Given the description of an element on the screen output the (x, y) to click on. 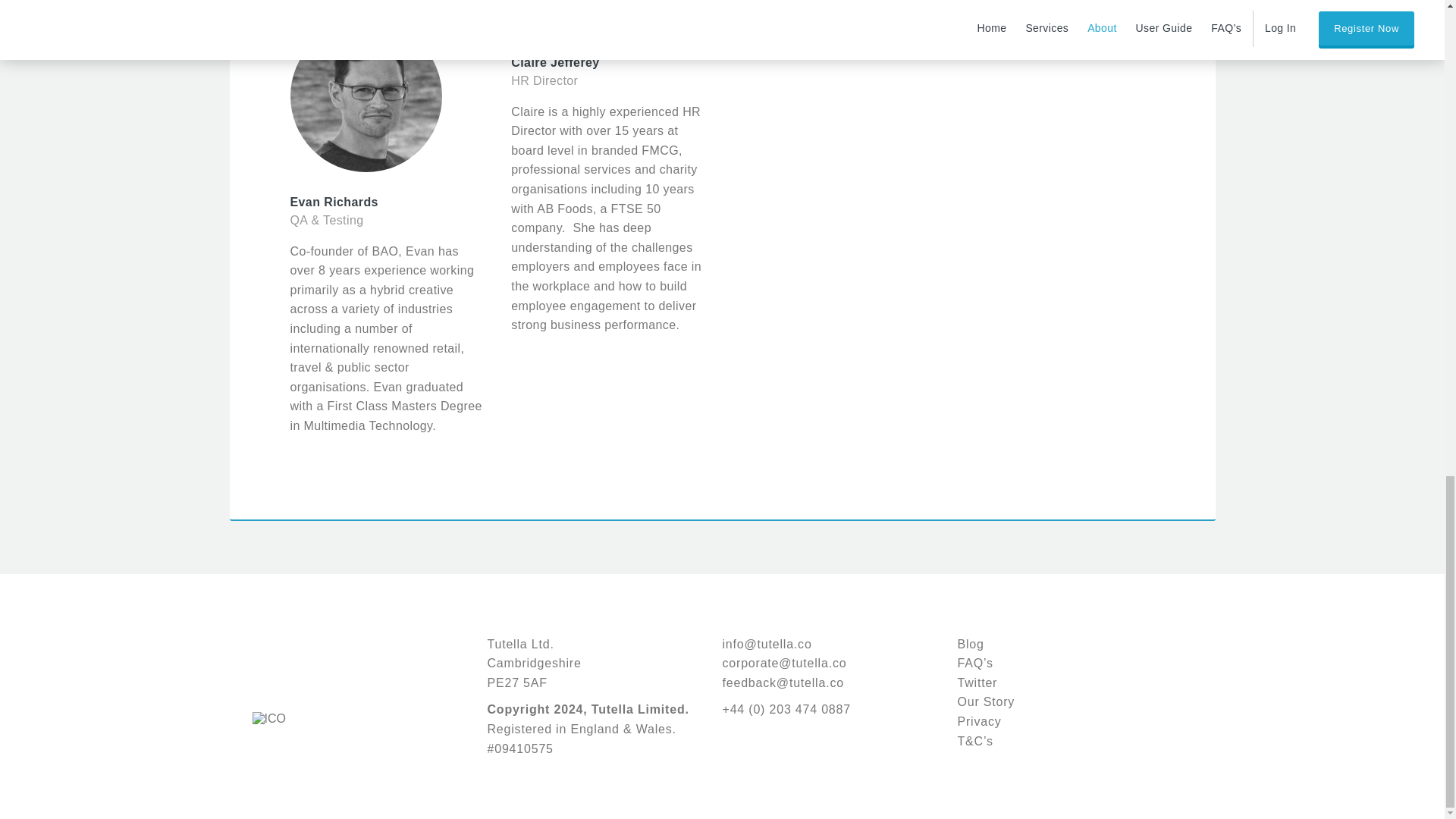
General Enquiries (766, 644)
Tutella (290, 654)
Read Tutella Privacy Policy (978, 721)
Twitter (976, 682)
Our Story (985, 701)
Privacy (978, 721)
Tutella Twitter Page (976, 682)
Tutella (290, 654)
Corporate Enquiries (783, 662)
Blog (970, 644)
Feedback (782, 682)
Tutella Corporate Page (985, 701)
